Given the description of an element on the screen output the (x, y) to click on. 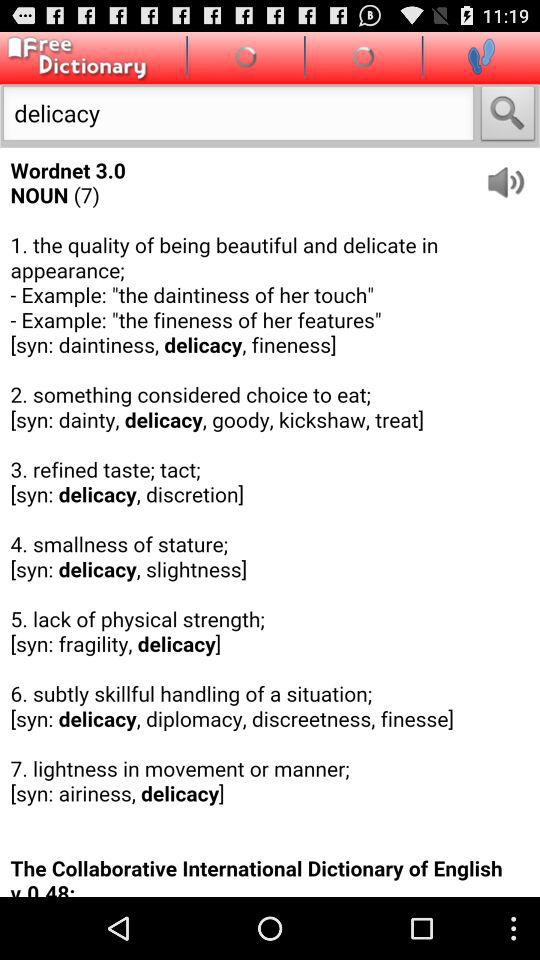
search word (507, 115)
